Given the description of an element on the screen output the (x, y) to click on. 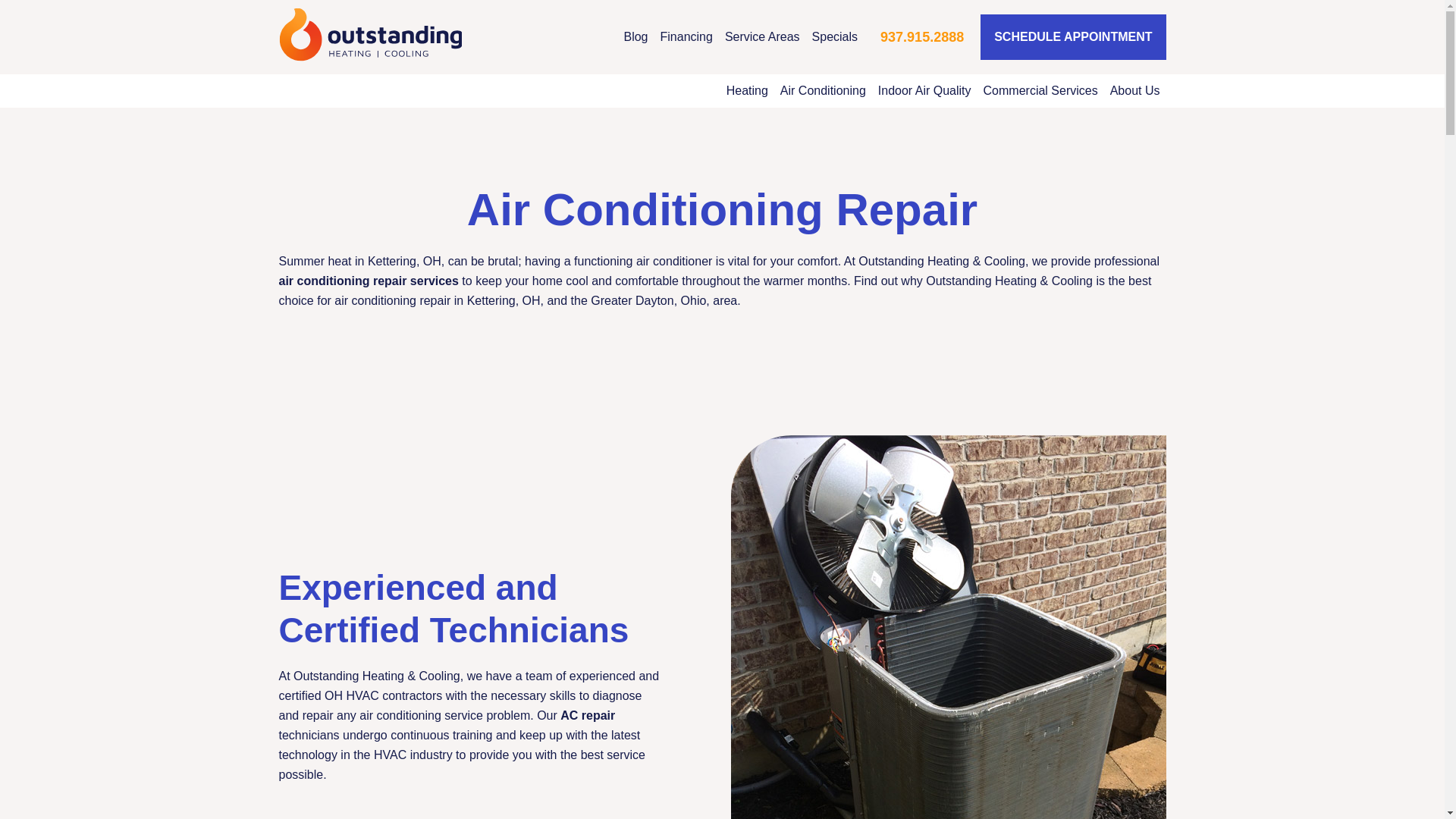
937.915.2888 (922, 37)
Indoor Air Quality (924, 90)
Air Conditioning (823, 90)
Service Areas (762, 36)
Blog (635, 36)
Financing (685, 36)
Specials (834, 36)
About Us (1134, 90)
SCHEDULE APPOINTMENT (1072, 36)
Commercial Services (1039, 90)
